Given the description of an element on the screen output the (x, y) to click on. 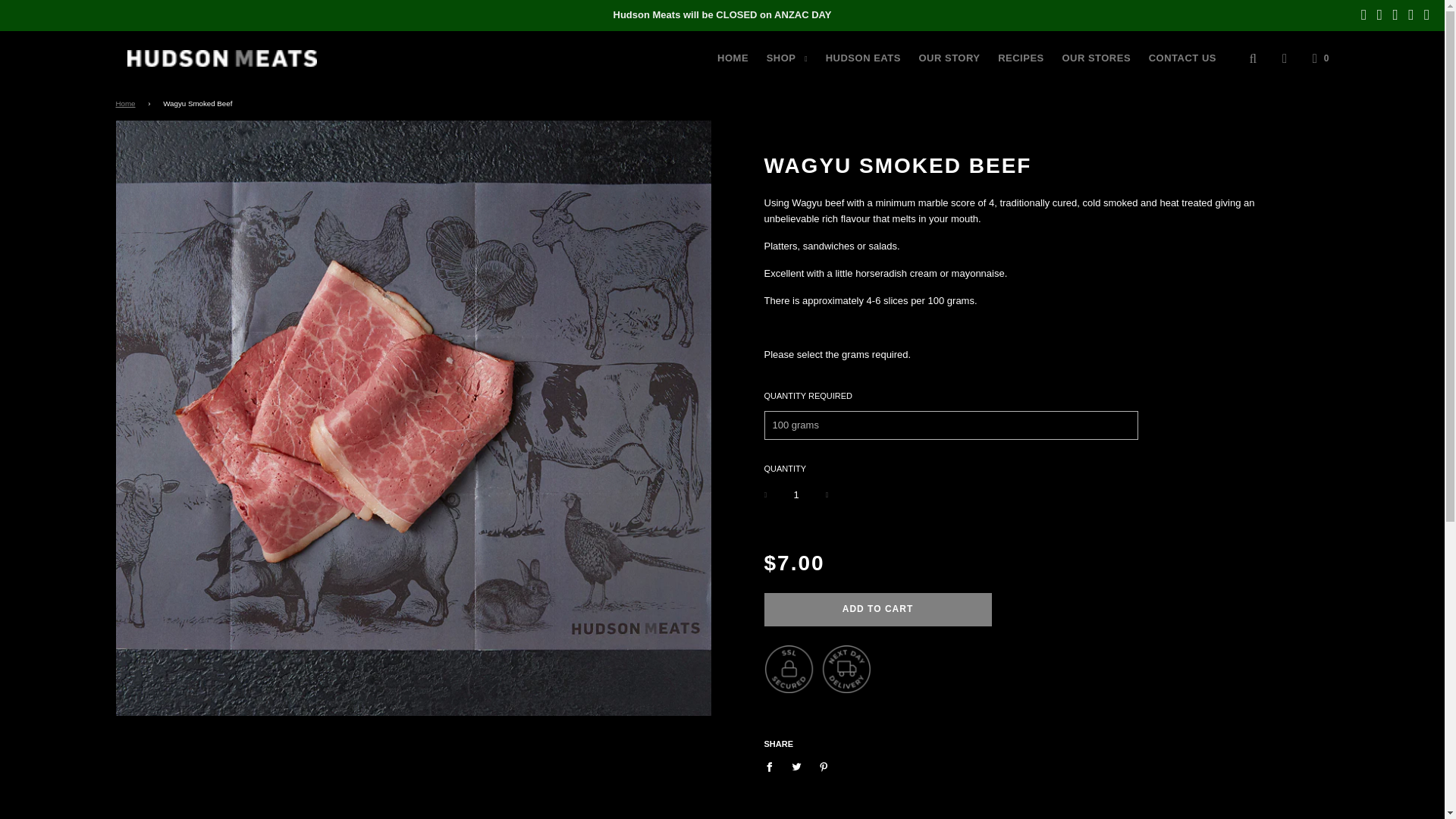
Back to the Home Page (127, 103)
Page 11 (1031, 279)
1 (796, 495)
Log in (1284, 57)
